Given the description of an element on the screen output the (x, y) to click on. 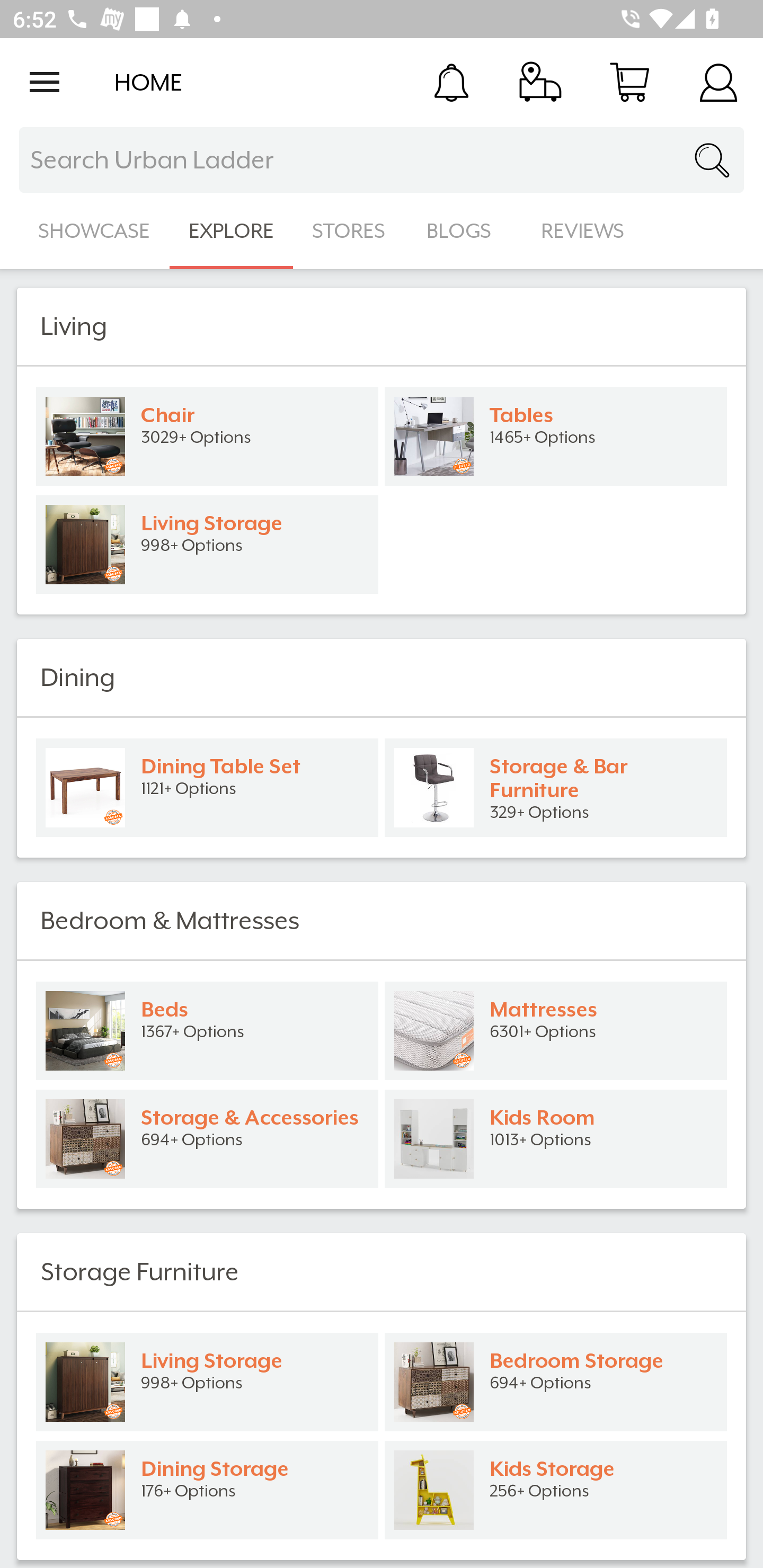
Open navigation drawer (44, 82)
Notification (450, 81)
Track Order (540, 81)
Cart (629, 81)
Account Details (718, 81)
Search Urban Ladder  (381, 159)
SHOWCASE (94, 230)
EXPLORE (230, 230)
STORES (349, 230)
BLOGS (464, 230)
REVIEWS (582, 230)
Chair 3029+ Options (206, 436)
Tables 1465+ Options (555, 436)
Living Storage 998+ Options (206, 544)
Dining Table Set 1121+ Options (206, 787)
Storage & Bar Furniture 329+ Options (555, 787)
Beds 1367+ Options (206, 1030)
Mattresses 6301+ Options (555, 1030)
Storage & Accessories 694+ Options (206, 1139)
Kids Room 1013+ Options (555, 1139)
Living Storage 998+ Options (206, 1382)
Bedroom Storage 694+ Options (555, 1382)
Dining Storage 176+ Options (206, 1490)
Kids Storage 256+ Options (555, 1490)
